Given the description of an element on the screen output the (x, y) to click on. 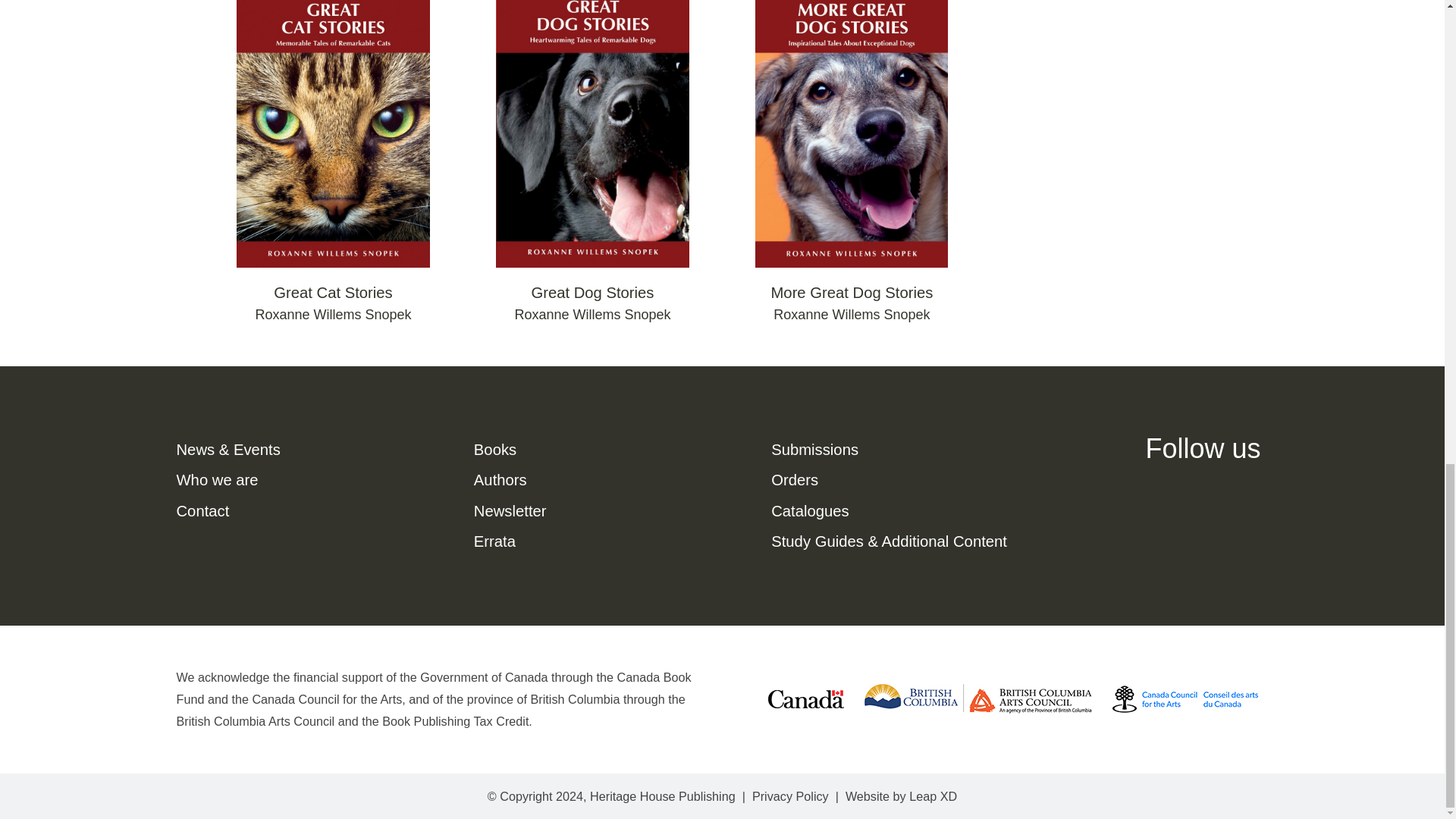
9781926613963 (333, 133)
Authors (500, 479)
Orders (794, 479)
Newsletter (510, 510)
Catalogues (809, 510)
9781926613970 (592, 133)
Contact (202, 510)
Leap XD (932, 796)
Submissions (815, 449)
9781894974578 (851, 133)
Errata (494, 541)
Privacy Policy (790, 796)
Who we are (216, 479)
Books (495, 449)
